Given the description of an element on the screen output the (x, y) to click on. 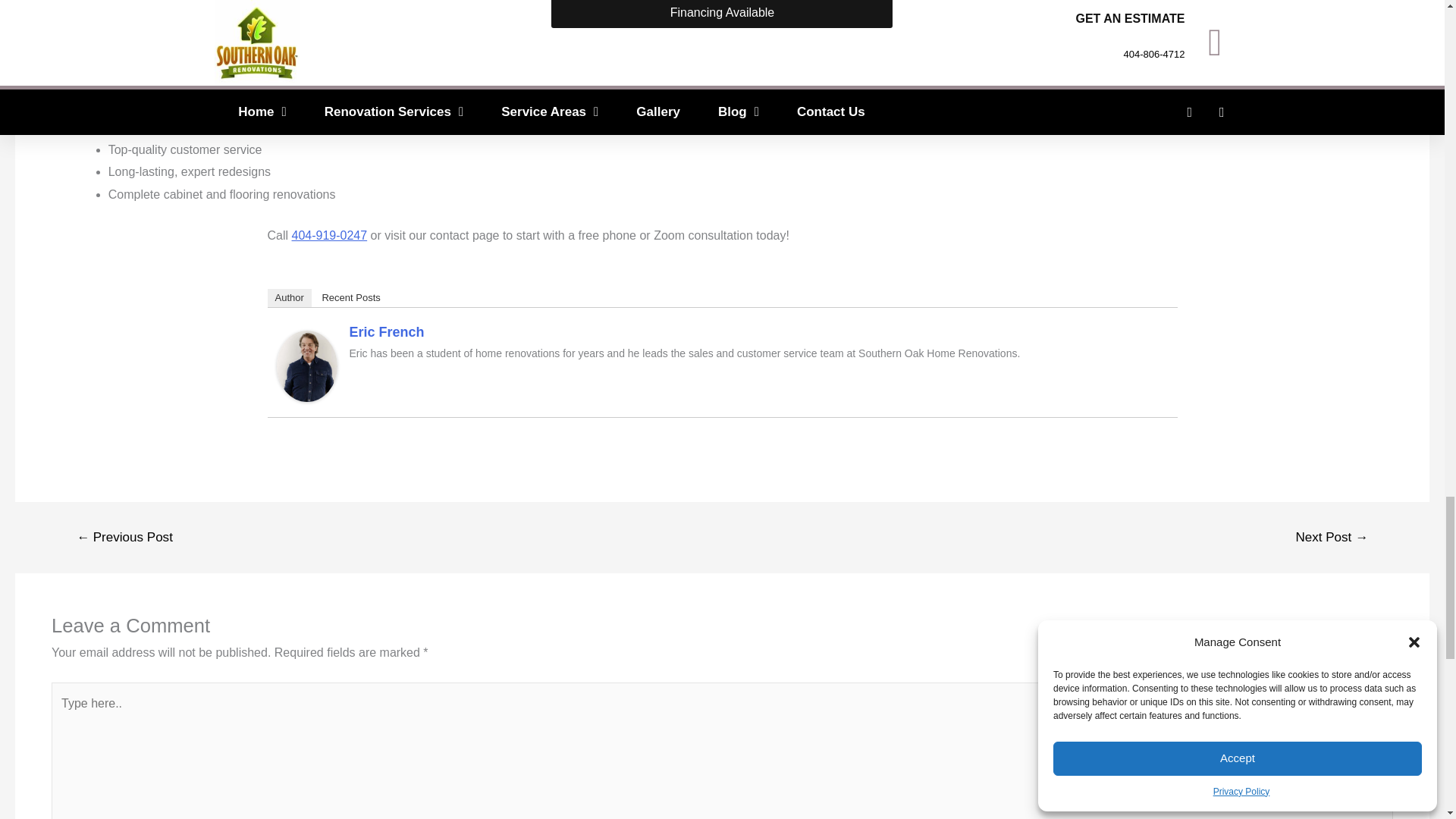
Eric French (306, 365)
